Given the description of an element on the screen output the (x, y) to click on. 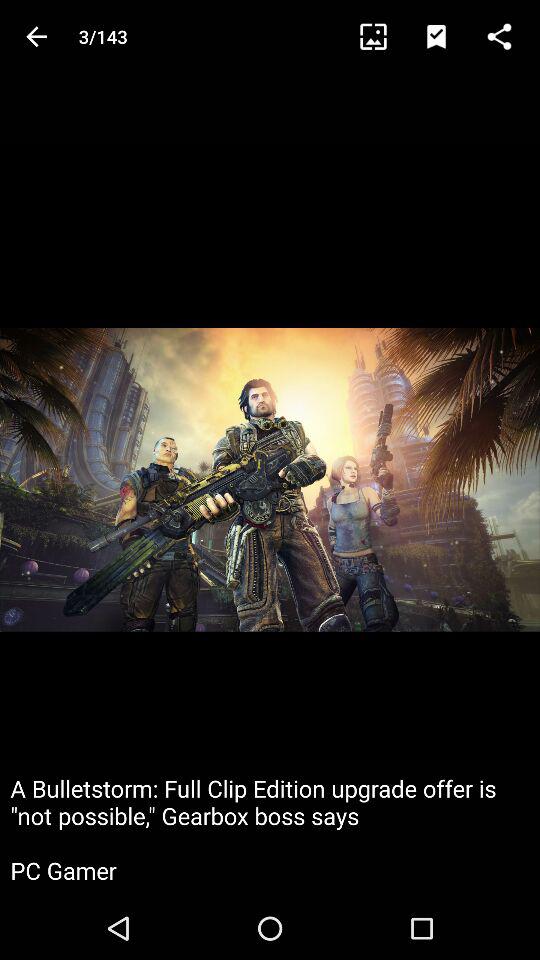
press item next to the 3/143 icon (36, 36)
